Given the description of an element on the screen output the (x, y) to click on. 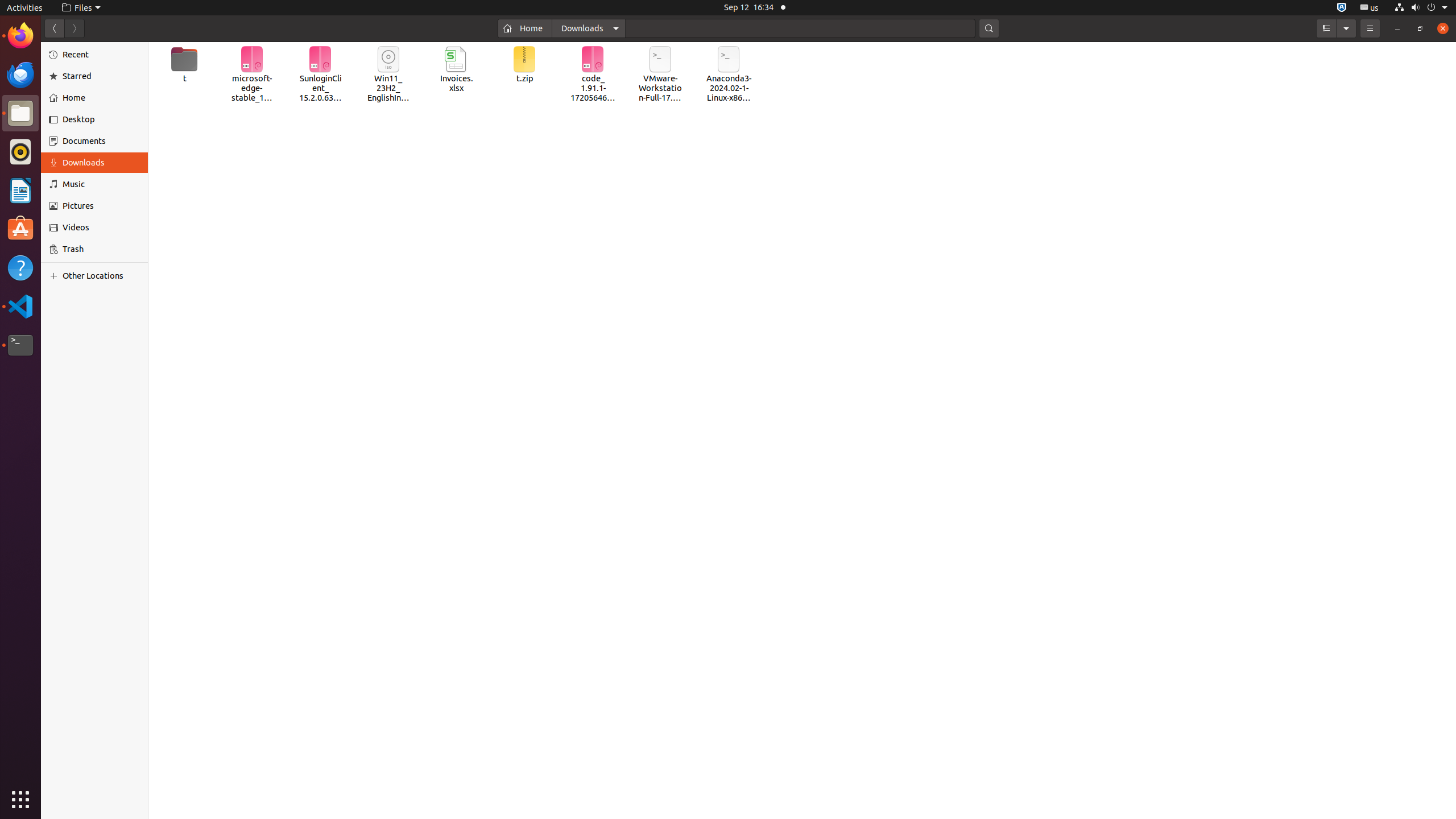
Restore Element type: push-button (1419, 27)
microsoft-edge-stable_128.0.2739.67-1_amd64.deb Element type: canvas (252, 74)
t.zip Element type: canvas (524, 64)
